Given the description of an element on the screen output the (x, y) to click on. 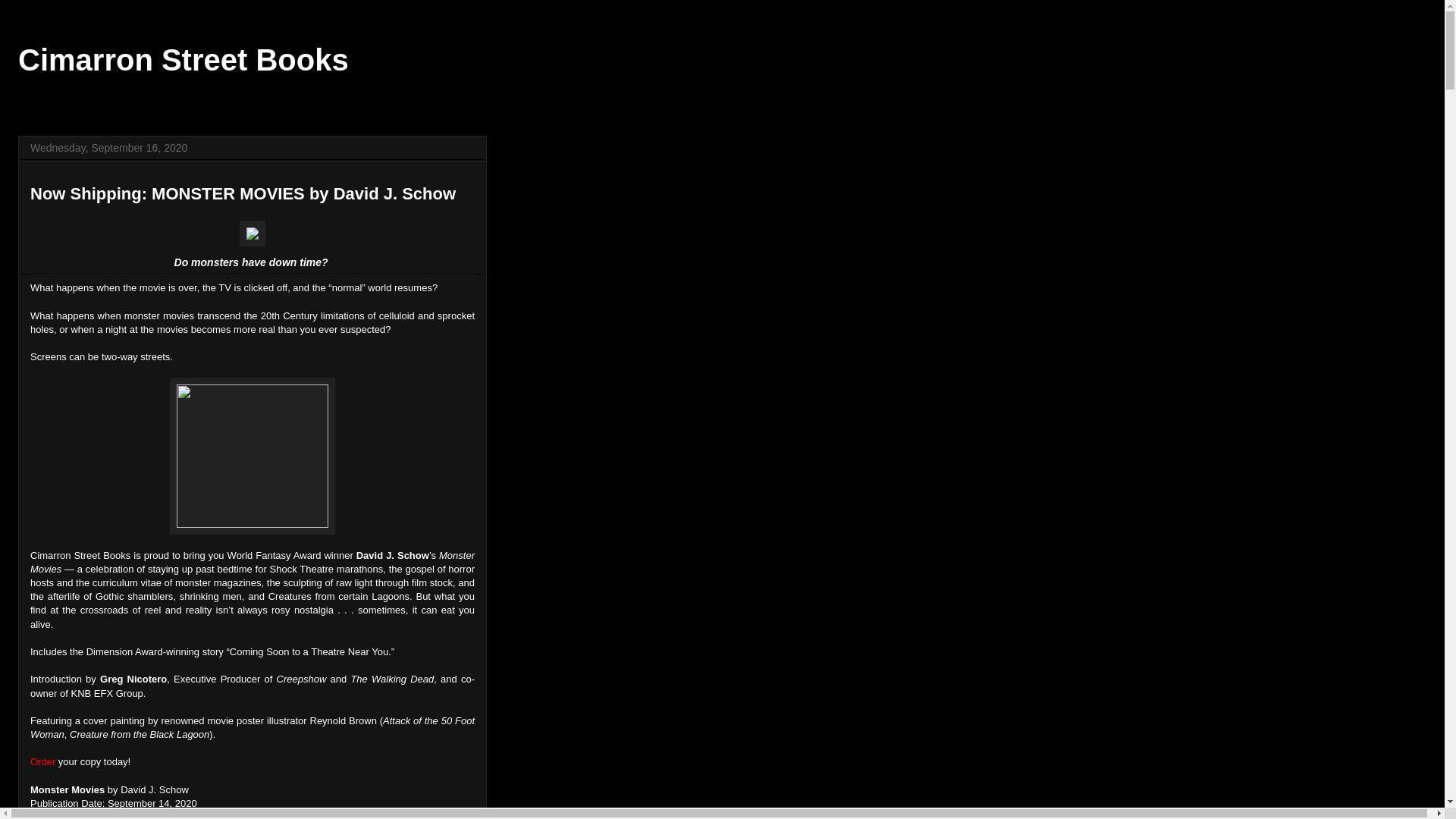
Now Shipping: MONSTER MOVIES by David J. Schow (242, 193)
Cimarron Street Books (183, 59)
Order (42, 761)
